Given the description of an element on the screen output the (x, y) to click on. 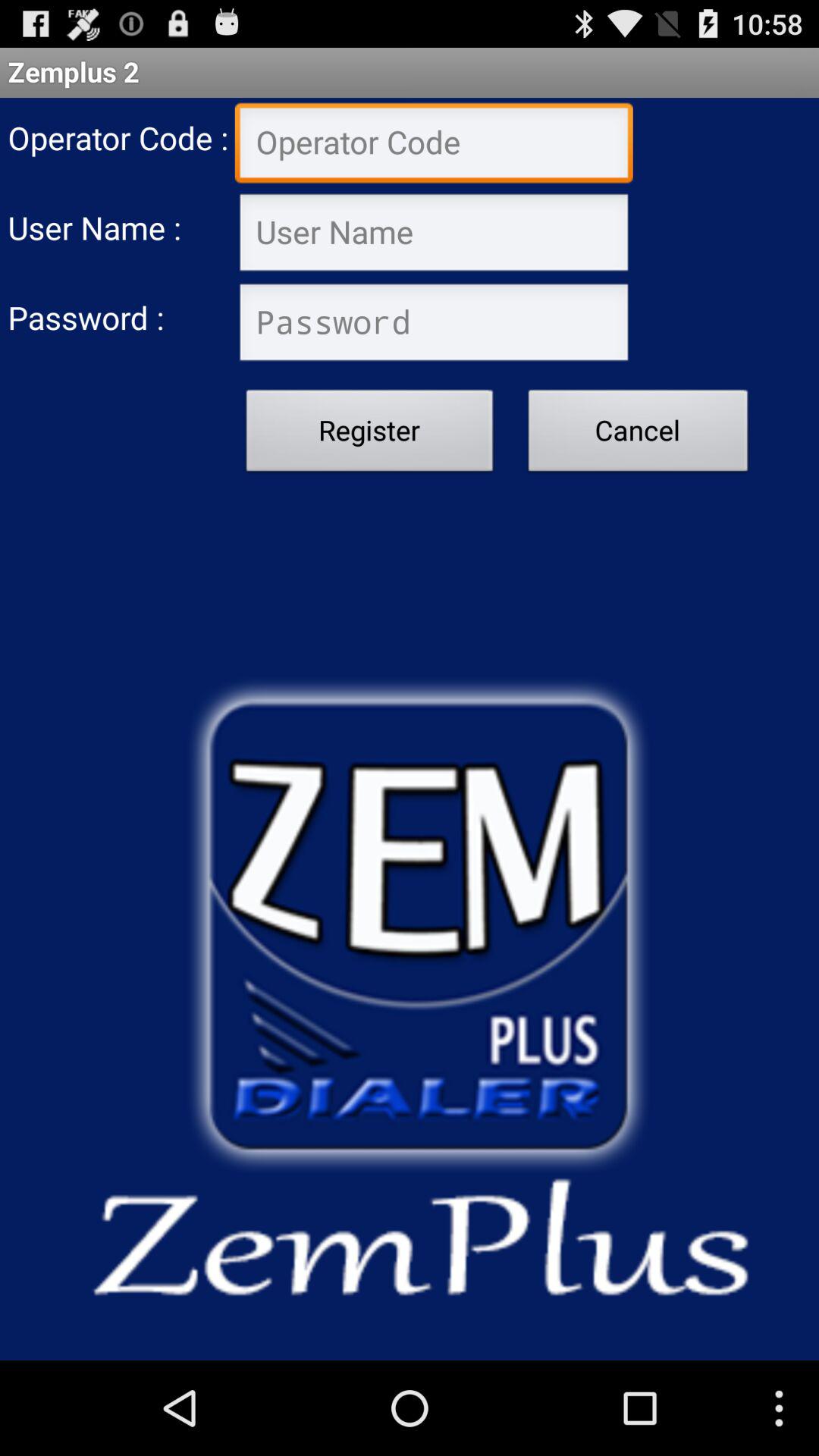
type password (433, 324)
